Given the description of an element on the screen output the (x, y) to click on. 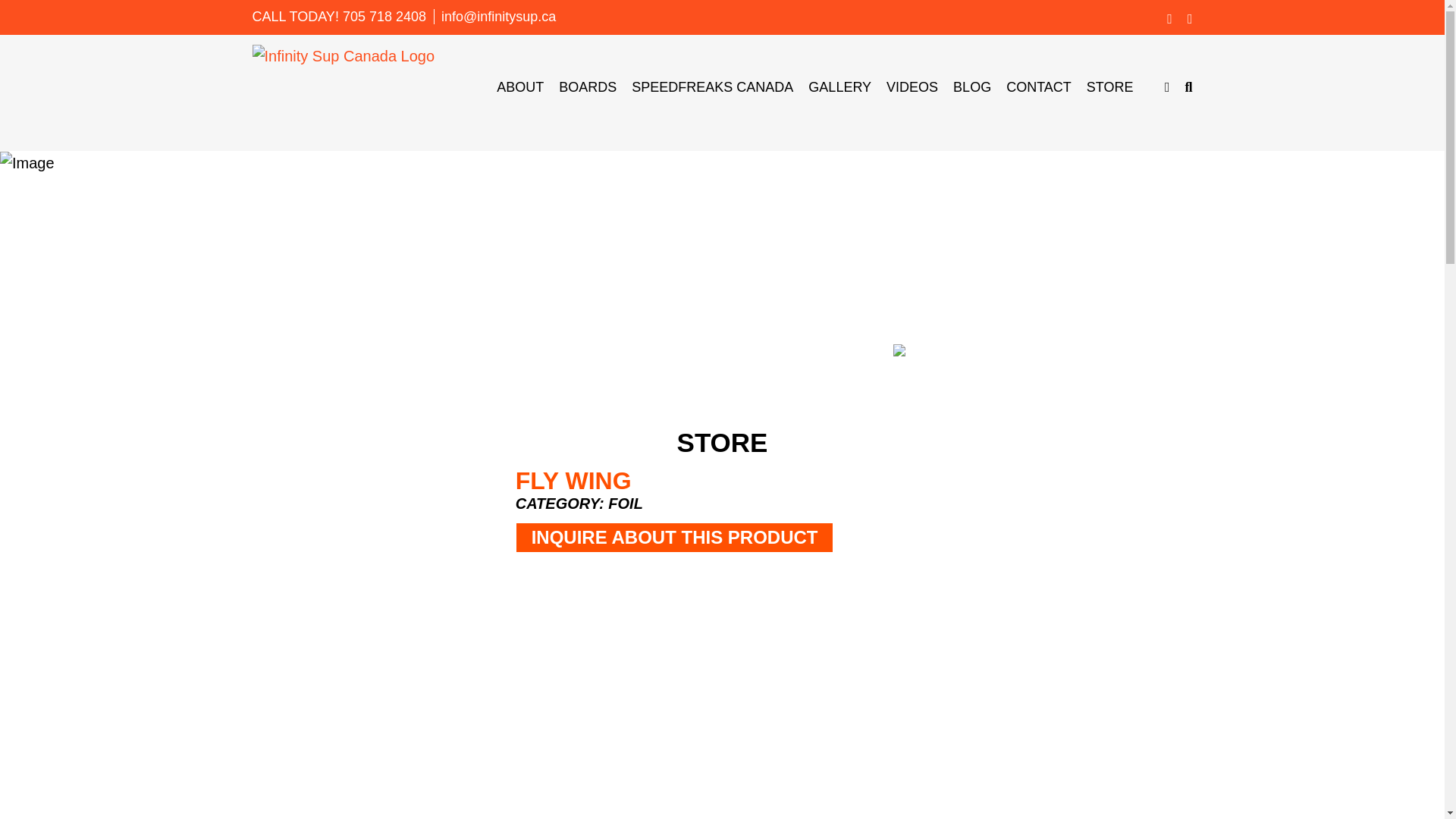
CONTACT (1038, 87)
Contact Number (384, 16)
ABOUT (519, 87)
BOARDS (587, 87)
GALLERY (839, 87)
Infinity Sup Canada (342, 54)
705 718 2408 (384, 16)
BLOG (972, 87)
SPEEDFREAKS CANADA (712, 87)
Mail Address (498, 16)
VIDEOS (911, 87)
STORE (1110, 87)
